Given the description of an element on the screen output the (x, y) to click on. 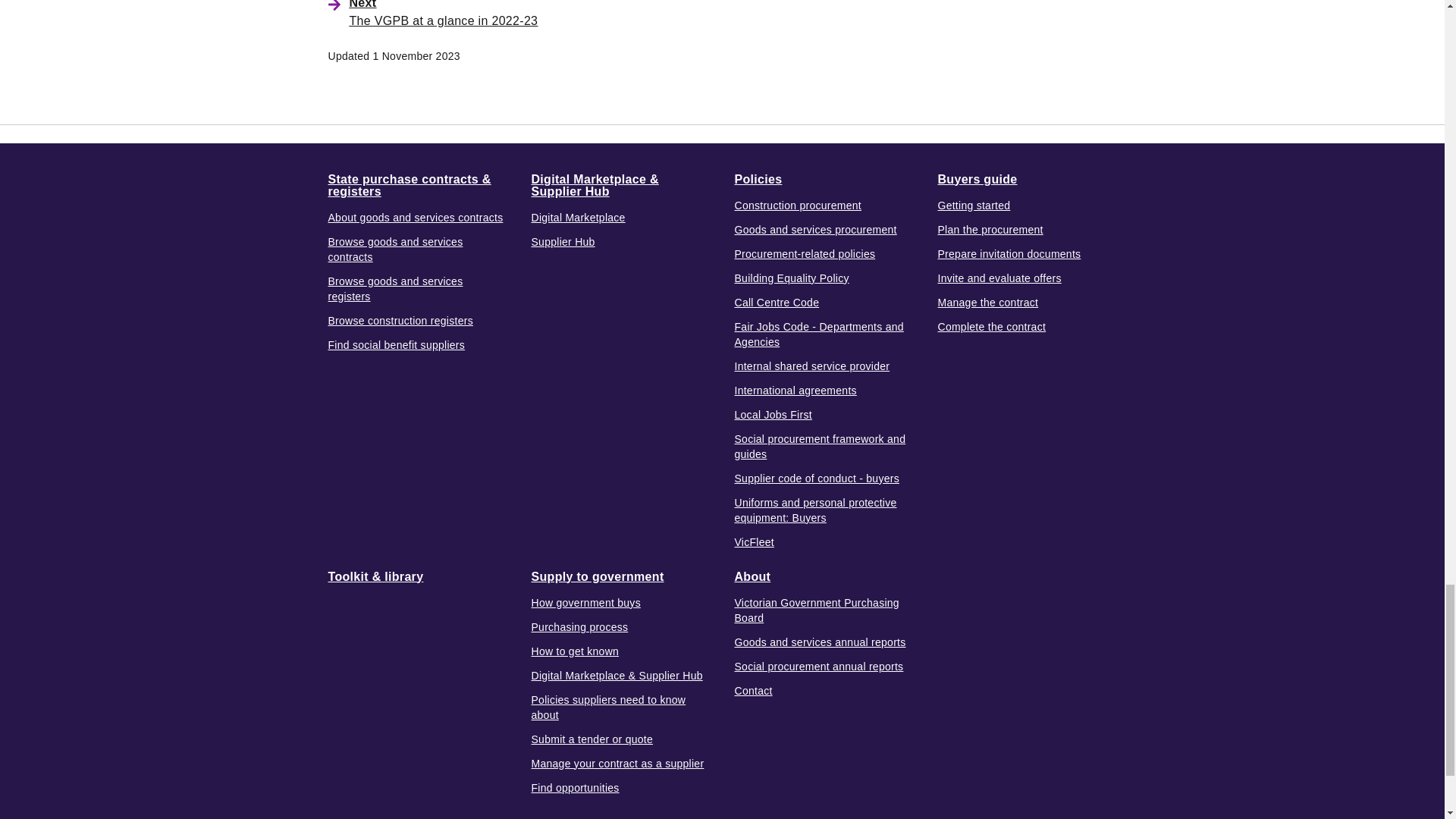
Find social benefit suppliers (395, 344)
Policies (757, 178)
Procurement-related policies (804, 253)
Construction procurement (797, 204)
Supplier Hub (562, 240)
Goods and services procurement (814, 228)
NextThe VGPB at a glance in 2022-23 (563, 13)
Building Equality Policy (790, 277)
About goods and services contracts (414, 216)
Browse goods and services registers (416, 287)
